Given the description of an element on the screen output the (x, y) to click on. 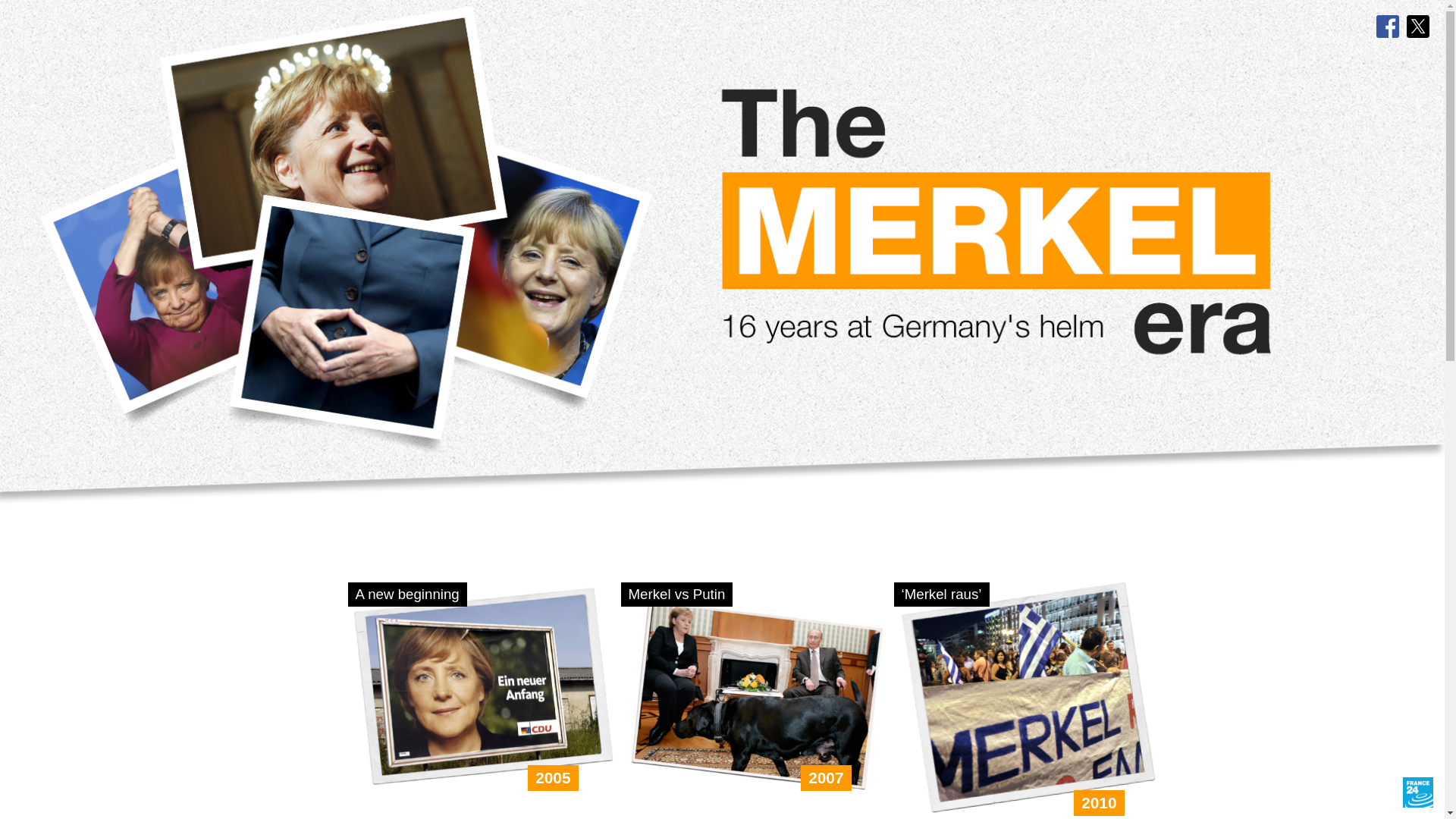
Twitter (1417, 26)
Facebook (1387, 26)
